Given the description of an element on the screen output the (x, y) to click on. 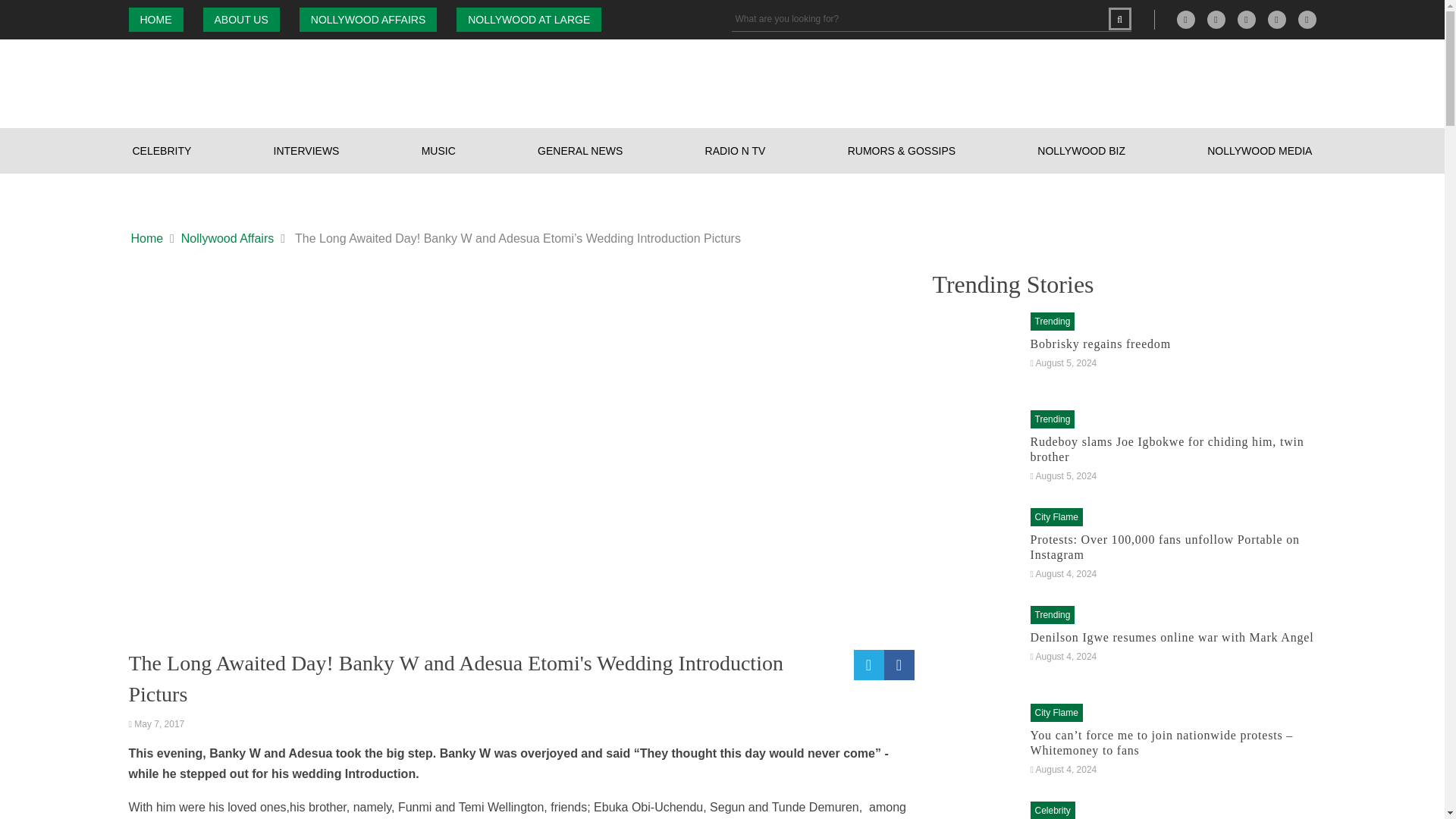
ABOUT US (241, 19)
CELEBRITY (162, 150)
RADIO N TV (735, 150)
Home (147, 239)
Twitter (1276, 19)
instagram (1246, 19)
Youtube (1307, 19)
Google plus (1185, 19)
Search (1119, 18)
NOLLYWOOD AFFAIRS (367, 19)
